Given the description of an element on the screen output the (x, y) to click on. 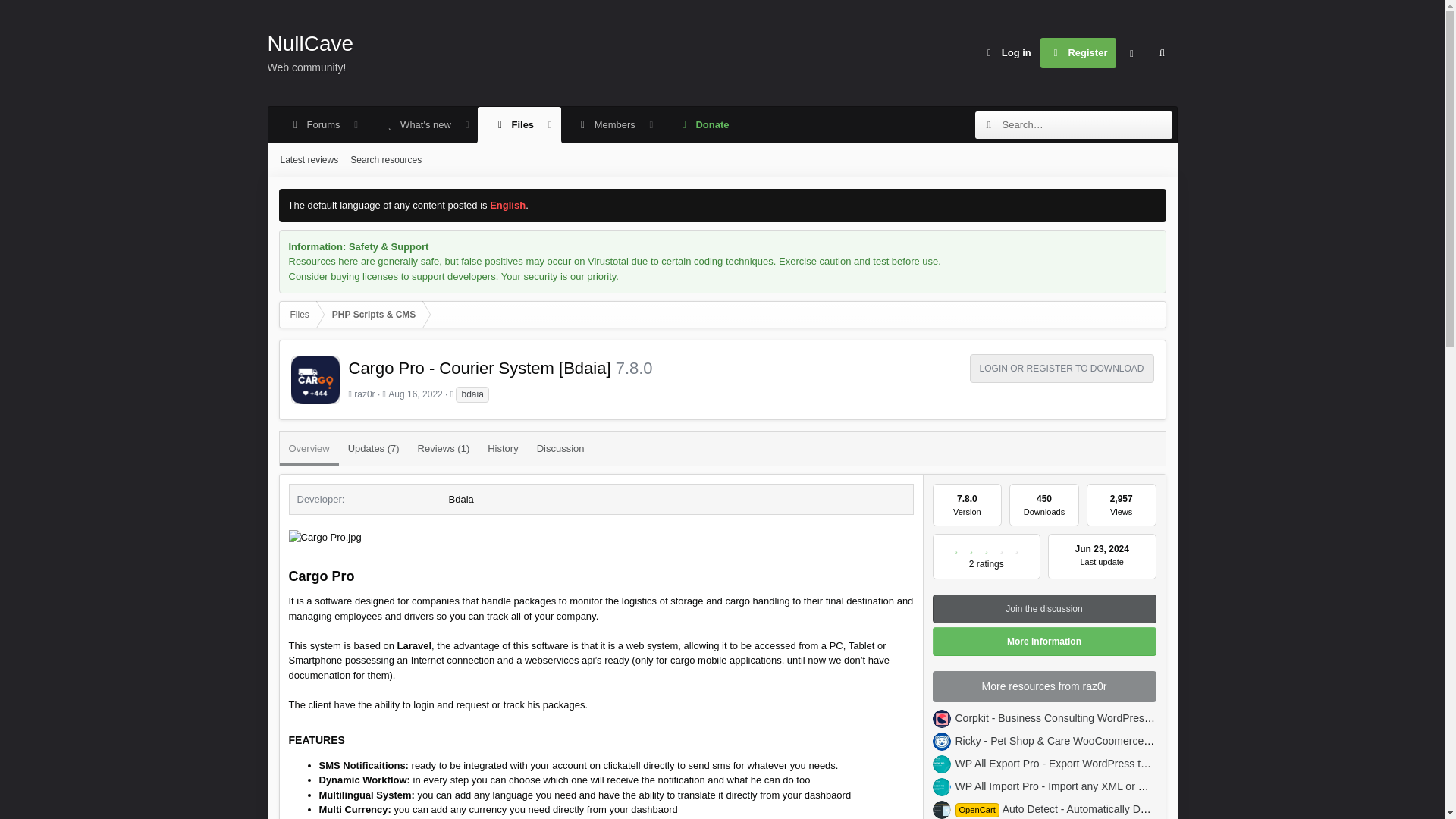
Jun 23, 2024 at 1:29 PM (1102, 548)
Log in (722, 176)
Cargo Pro.jpg (1007, 52)
Aug 16, 2022 at 1:01 PM (324, 537)
Register (509, 125)
Files (415, 394)
What's new (1078, 52)
Latest reviews (512, 125)
Donate (415, 125)
Forums (310, 159)
Members (703, 125)
